Given the description of an element on the screen output the (x, y) to click on. 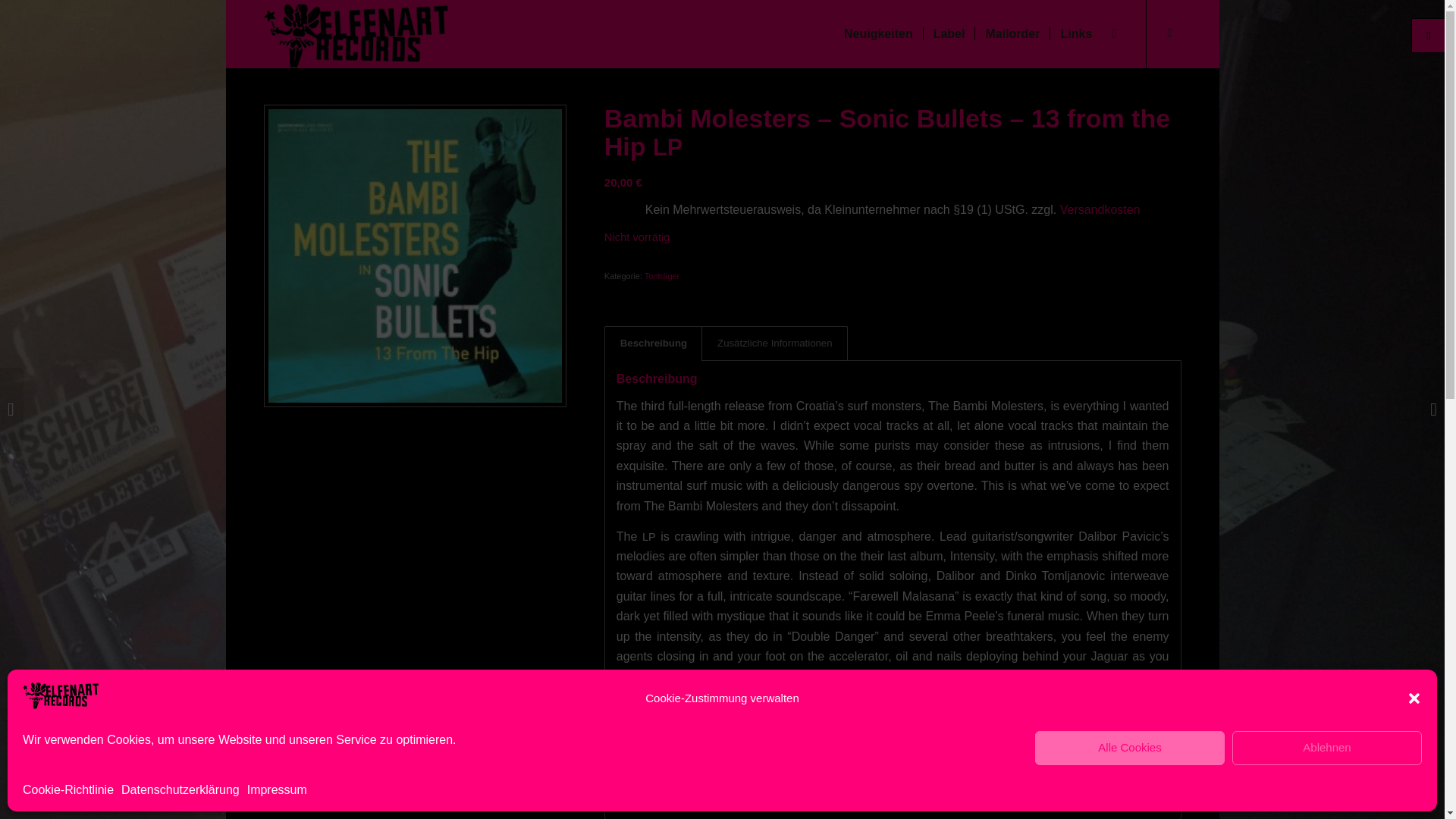
Beschreibung (652, 343)
Beschreibung (652, 343)
